Given the description of an element on the screen output the (x, y) to click on. 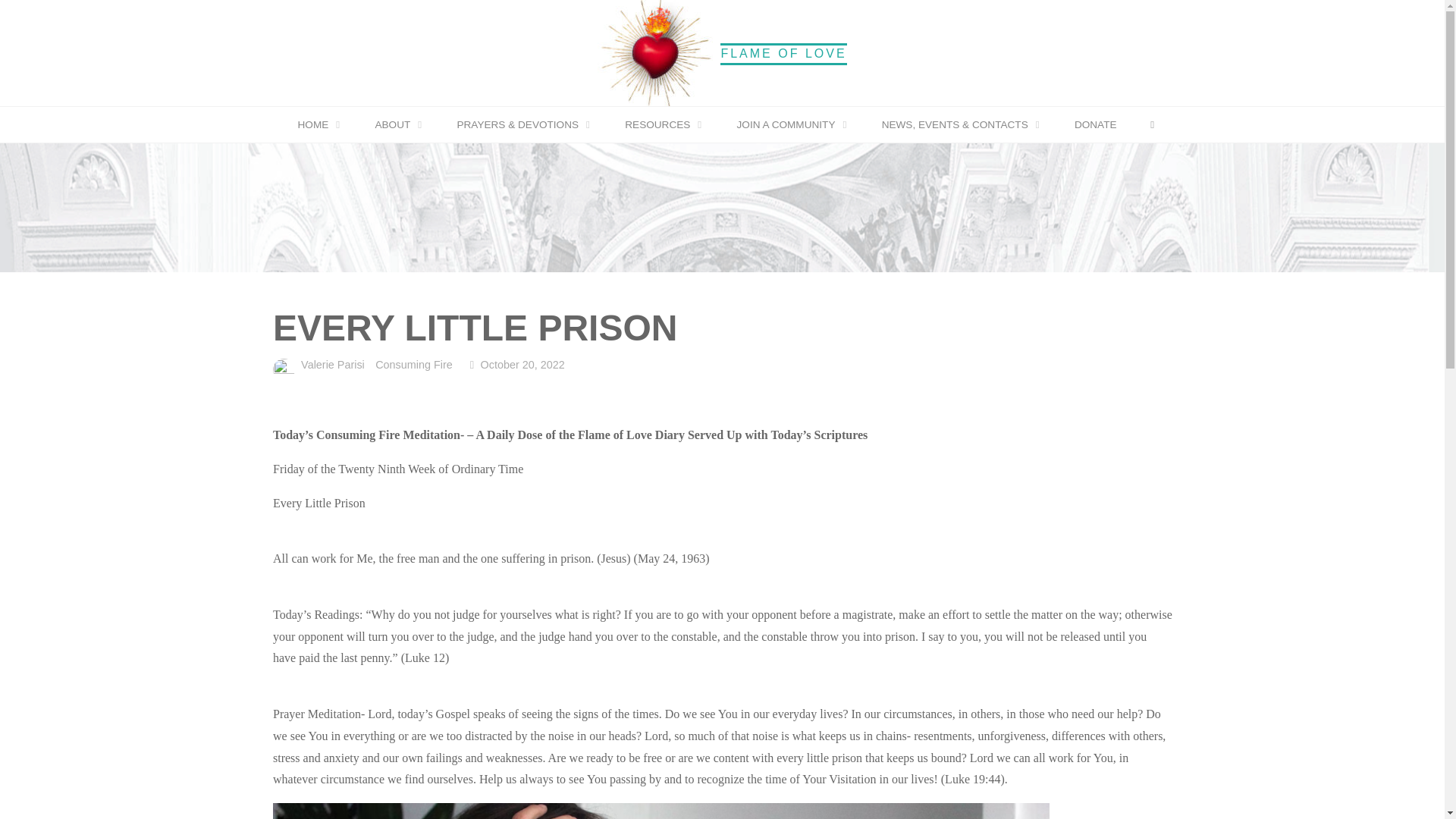
FLAME OF LOVE (782, 52)
of the Immaculate Heart of Mary (782, 52)
Date (471, 364)
View all posts by Valerie Parisi (331, 365)
Flame of Love (655, 51)
